Given the description of an element on the screen output the (x, y) to click on. 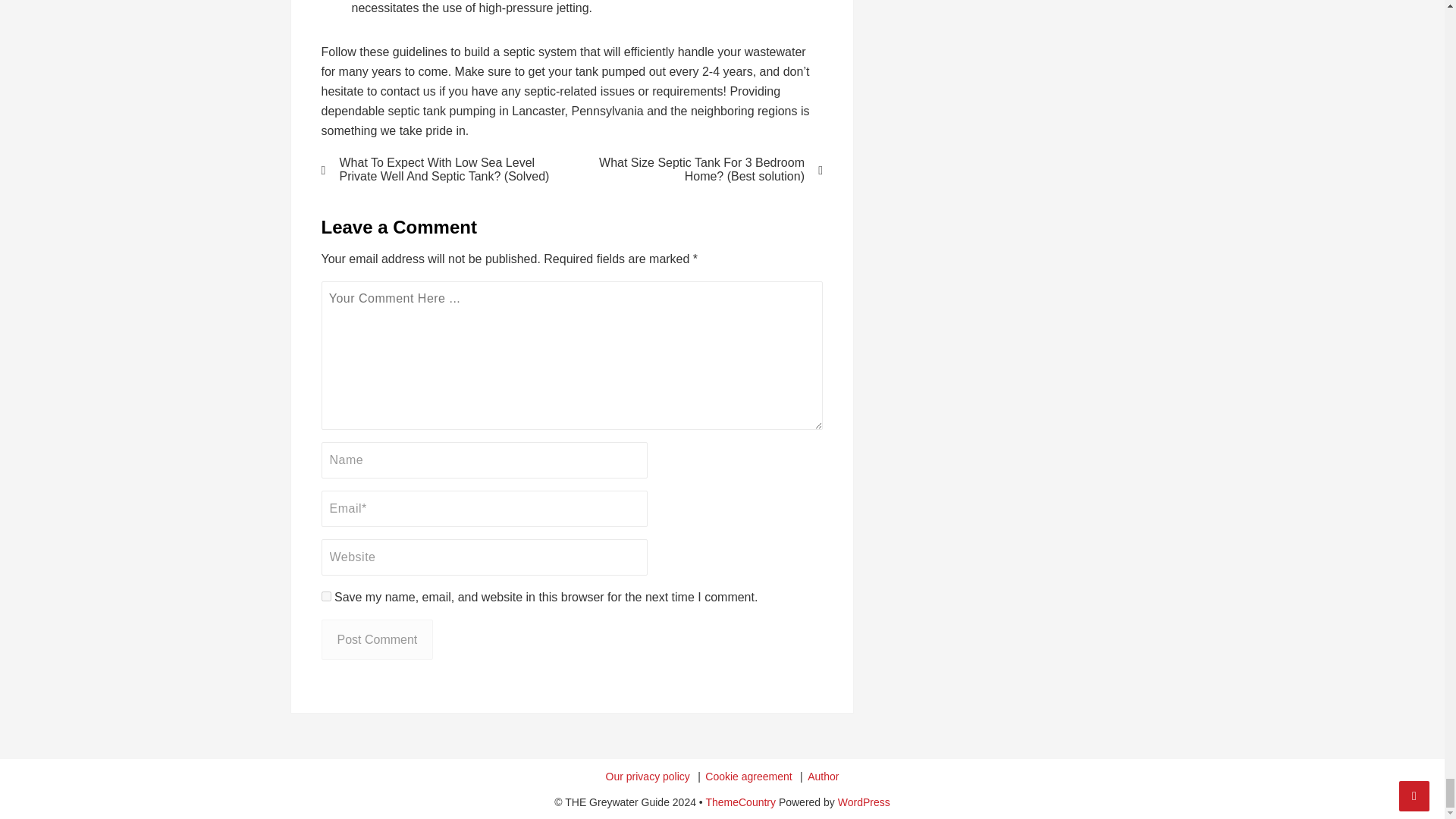
Post Comment (377, 639)
yes (326, 596)
BasePress - The best free WordPress blog theme for WordPress (740, 802)
